Given the description of an element on the screen output the (x, y) to click on. 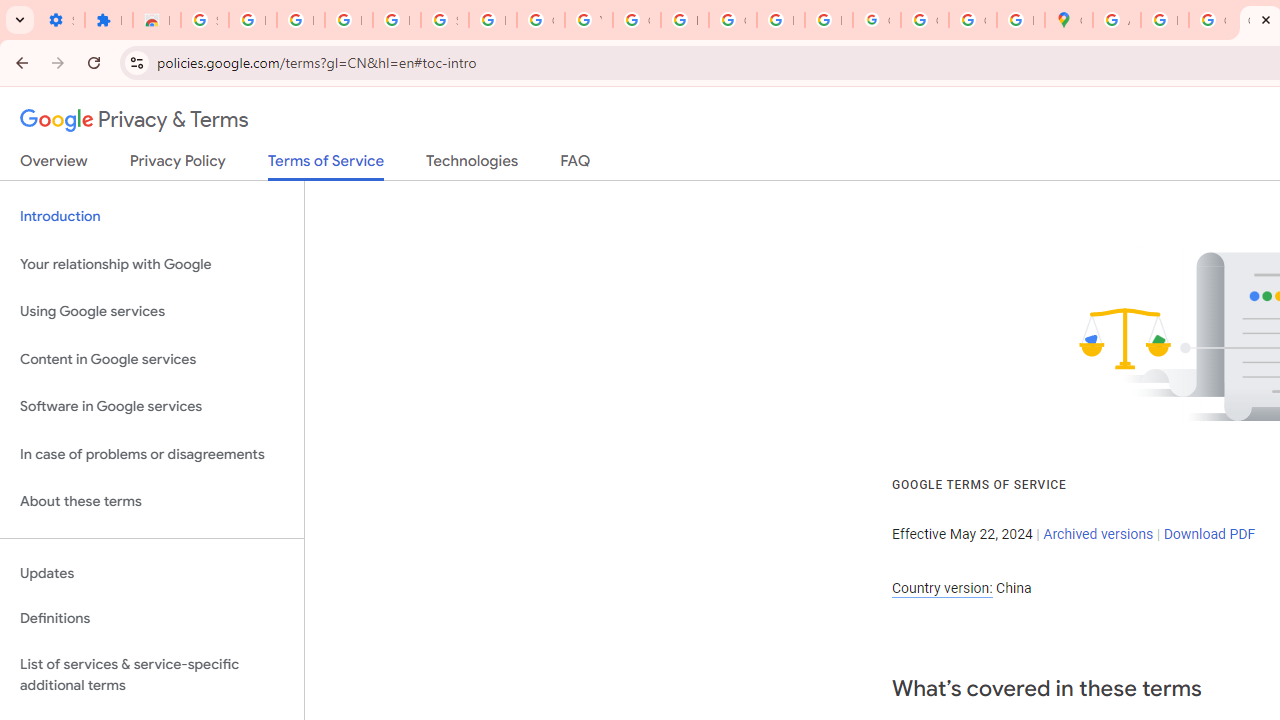
About these terms (152, 502)
Using Google services (152, 312)
Sign in - Google Accounts (204, 20)
Technologies (472, 165)
Create your Google Account (1212, 20)
YouTube (588, 20)
Download PDF (1209, 533)
Google Maps (1068, 20)
Sign in - Google Accounts (444, 20)
